Given the description of an element on the screen output the (x, y) to click on. 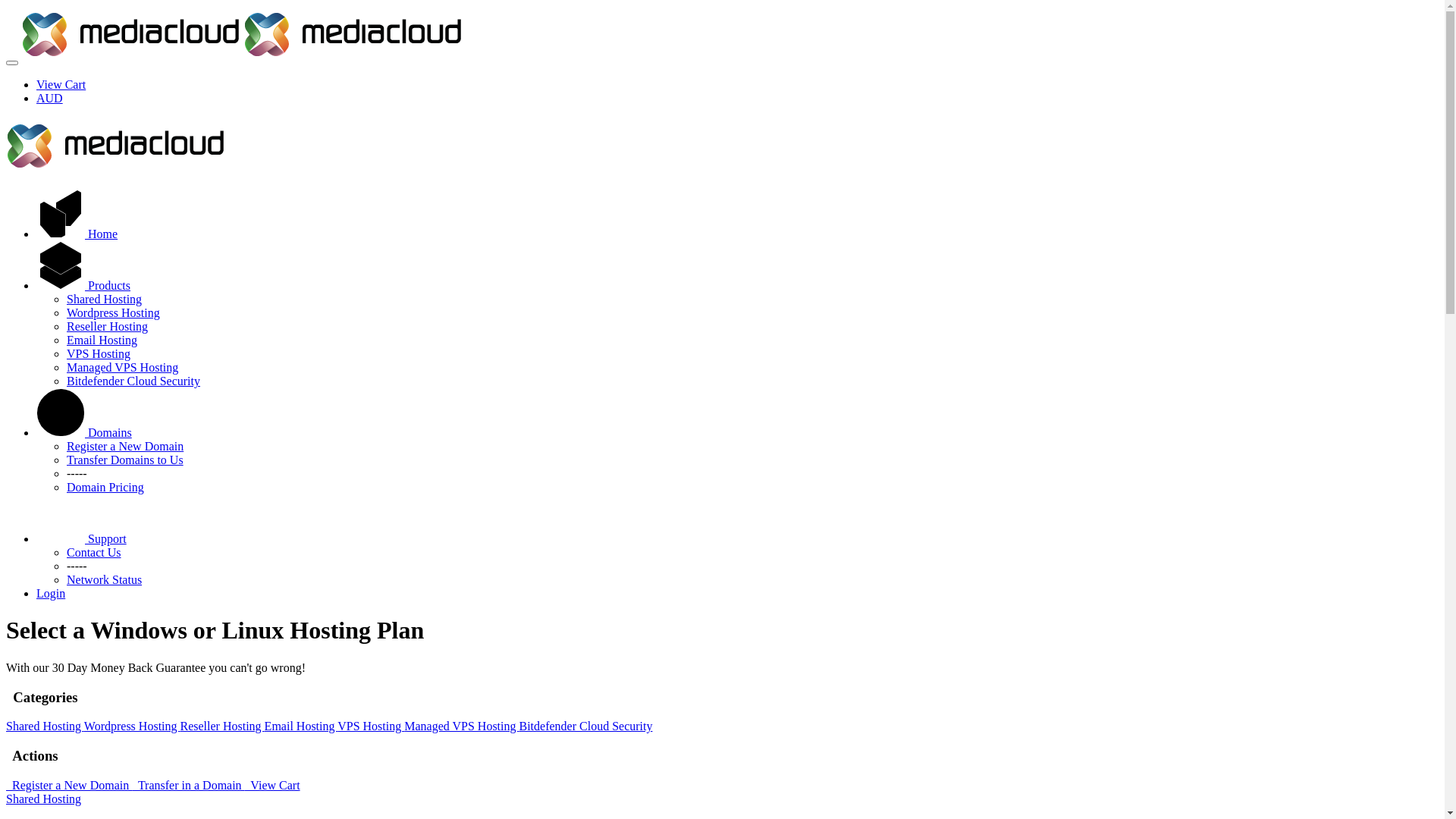
Register a New Domain Element type: text (124, 445)
  Register a New Domain Element type: text (68, 784)
Email Hosting Element type: text (101, 339)
Wordpress Hosting Element type: text (113, 312)
Reseller Hosting Element type: text (222, 725)
Shared Hosting Element type: text (103, 298)
Home Element type: text (76, 233)
MediaCloud Element type: hover (115, 145)
Managed VPS Hosting Element type: text (122, 366)
Support Element type: text (81, 538)
Login Element type: text (50, 592)
Wordpress Hosting Element type: text (132, 725)
Reseller Hosting Element type: text (106, 326)
Shared Hosting Element type: text (43, 798)
VPS Hosting Element type: text (370, 725)
Contact Us Element type: text (93, 552)
View Cart Element type: text (60, 84)
Email Hosting Element type: text (301, 725)
Products Element type: text (83, 285)
Domain Pricing Element type: text (105, 486)
Bitdefender Cloud Security Element type: text (133, 380)
Transfer Domains to Us Element type: text (124, 459)
VPS Hosting Element type: text (98, 353)
Network Status Element type: text (103, 579)
MediaCloud Element type: hover (352, 34)
Bitdefender Cloud Security Element type: text (585, 725)
Managed VPS Hosting Element type: text (461, 725)
Domains Element type: text (83, 432)
AUD Element type: text (49, 97)
Shared Hosting Element type: text (45, 725)
MediaCloud Element type: hover (130, 34)
  View Cart Element type: text (272, 784)
  Transfer in a Domain Element type: text (187, 784)
